Given the description of an element on the screen output the (x, y) to click on. 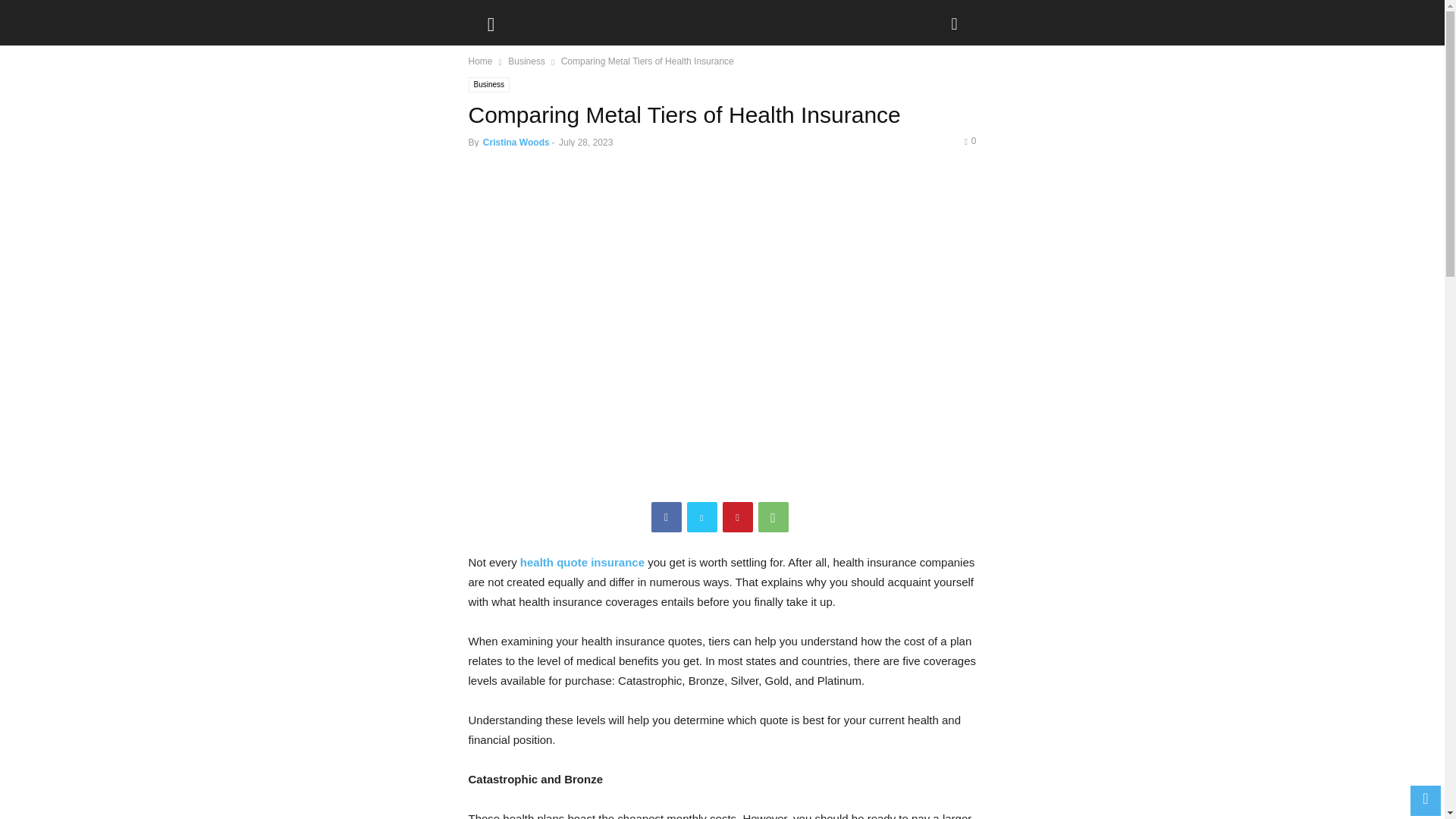
Twitter (702, 517)
WhatsApp (773, 517)
Pinterest (737, 517)
View all posts in Business (526, 61)
Facebook (665, 517)
